Given the description of an element on the screen output the (x, y) to click on. 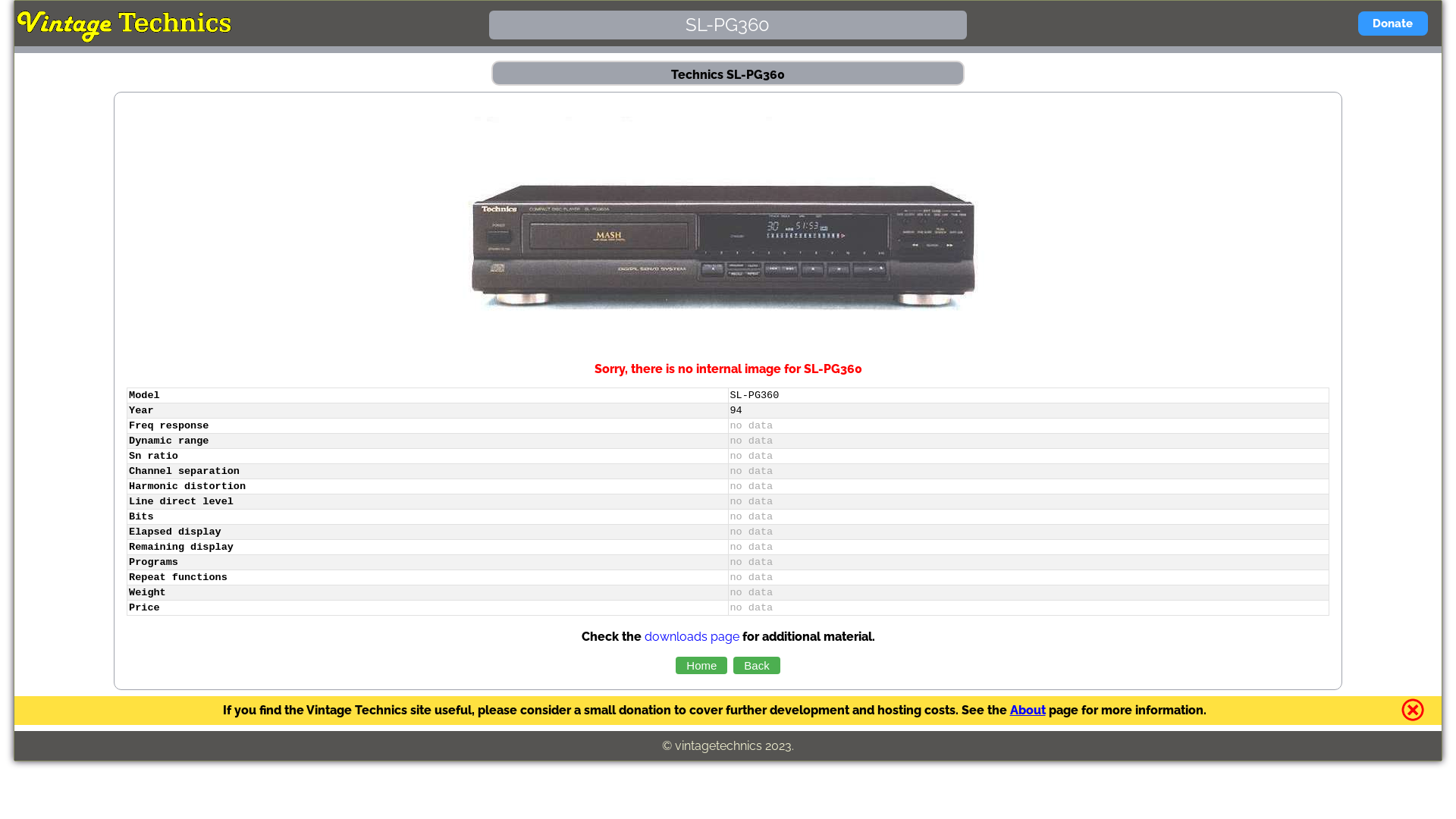
Donate Element type: text (1392, 23)
About Element type: text (1027, 709)
Back Element type: text (756, 665)
downloads page Element type: text (691, 636)
Home Element type: text (701, 665)
